Given the description of an element on the screen output the (x, y) to click on. 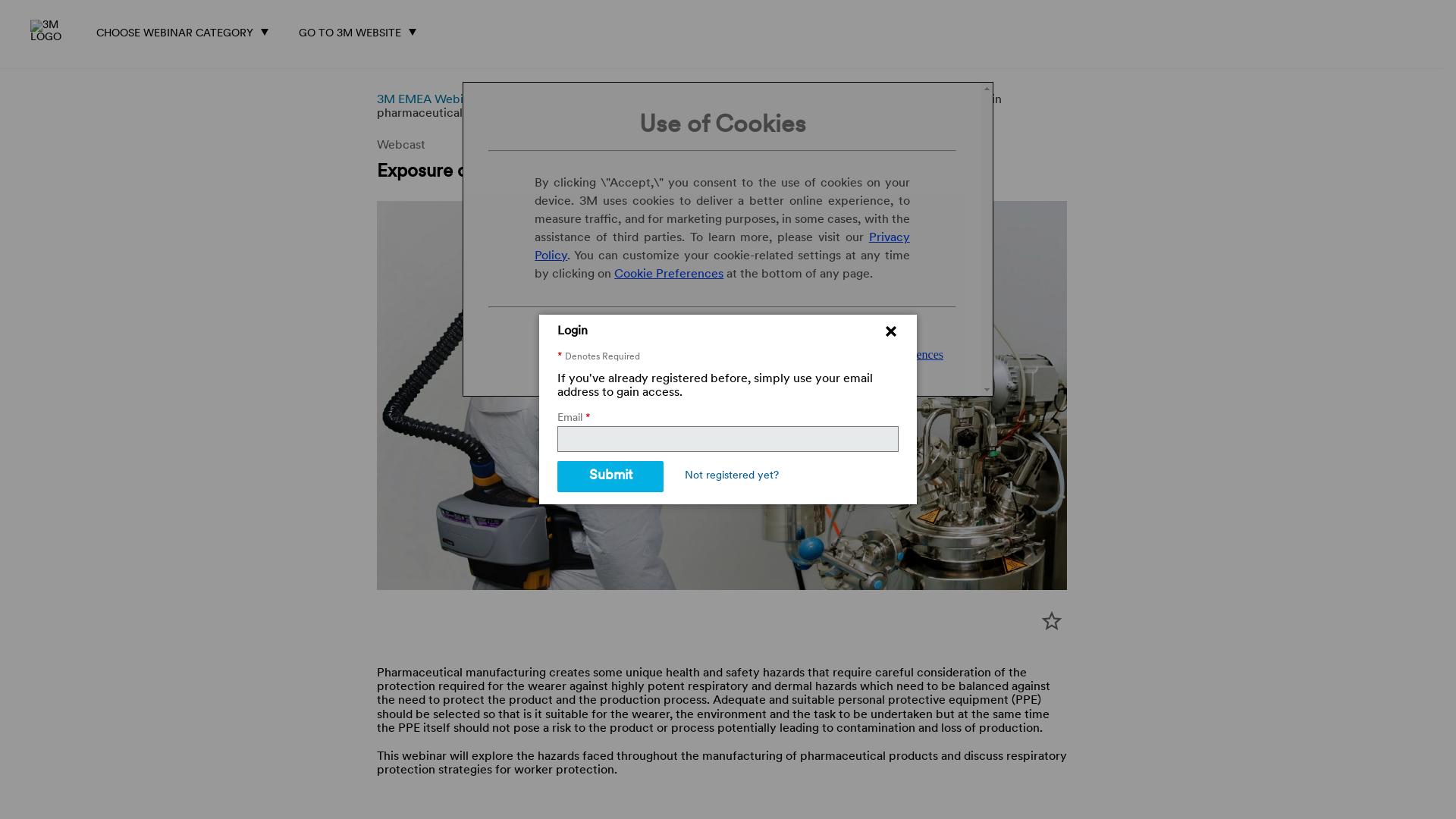
3M EMEA Webinars Element type: text (432, 100)
Not registered yet? Element type: text (731, 476)
bookmark Element type: hover (1050, 620)
Worker Health & Safety | Educational Webinars Element type: text (628, 100)
Decline Element type: text (776, 353)
Cookie Preferences Element type: text (668, 274)
Submit Element type: text (610, 476)
CHOOSE WEBINAR CATEGORY Element type: text (185, 30)
Privacy Policy Element type: text (721, 247)
Exposure control of hazardous materials in pharmaceutical Element type: text (688, 106)
Accept Element type: text (678, 353)
Manage my preferences Element type: text (884, 354)
3M United Kingdom Element type: hover (53, 31)
GO TO 3M WEBSITE Element type: text (360, 30)
